Given the description of an element on the screen output the (x, y) to click on. 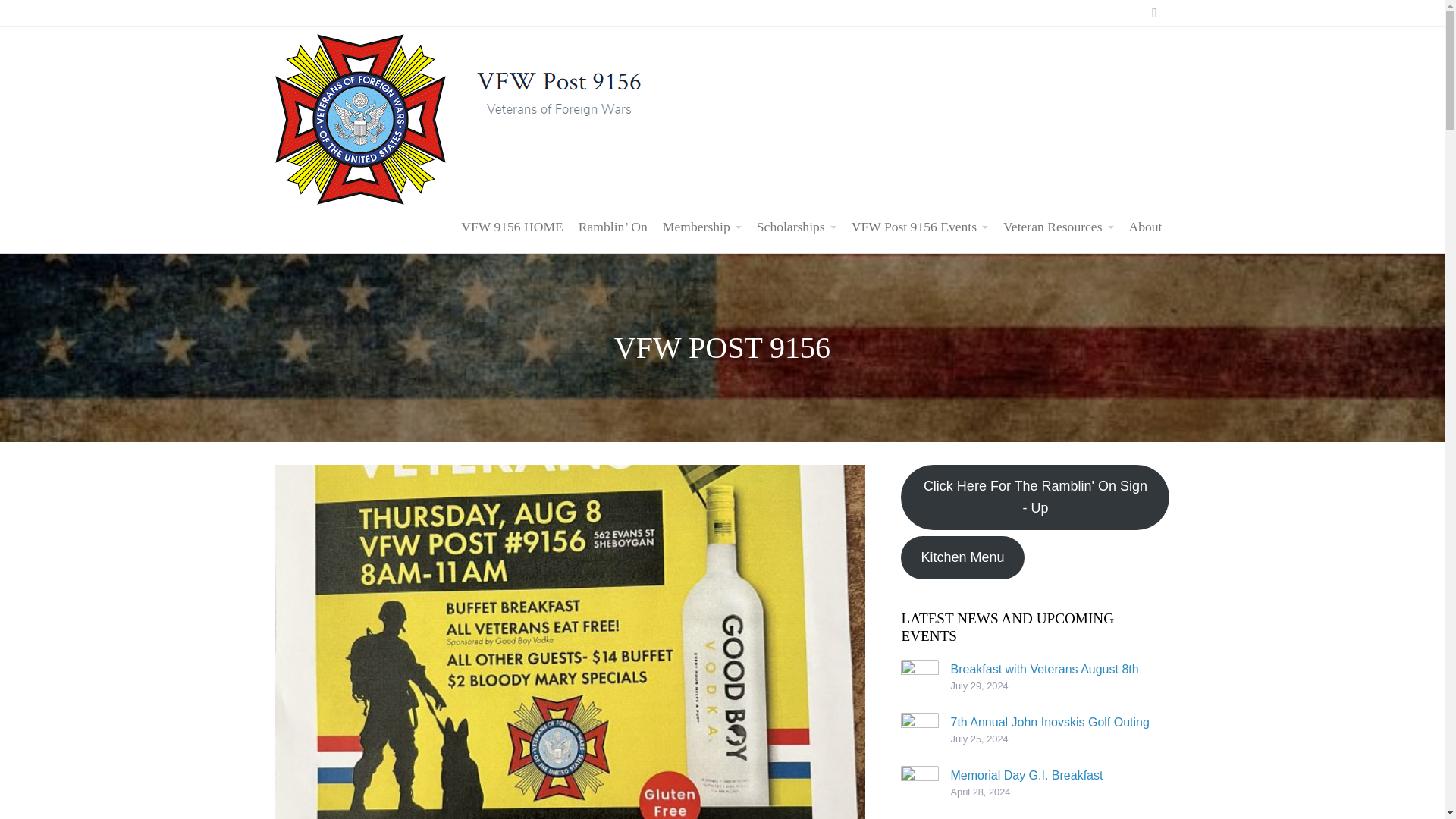
Scholarships (796, 226)
Membership (702, 226)
Facebook (1153, 12)
VFW Post 9156 Events (919, 226)
VFW 9156 HOME (511, 226)
About (1145, 226)
Veteran Resources (1058, 226)
